Given the description of an element on the screen output the (x, y) to click on. 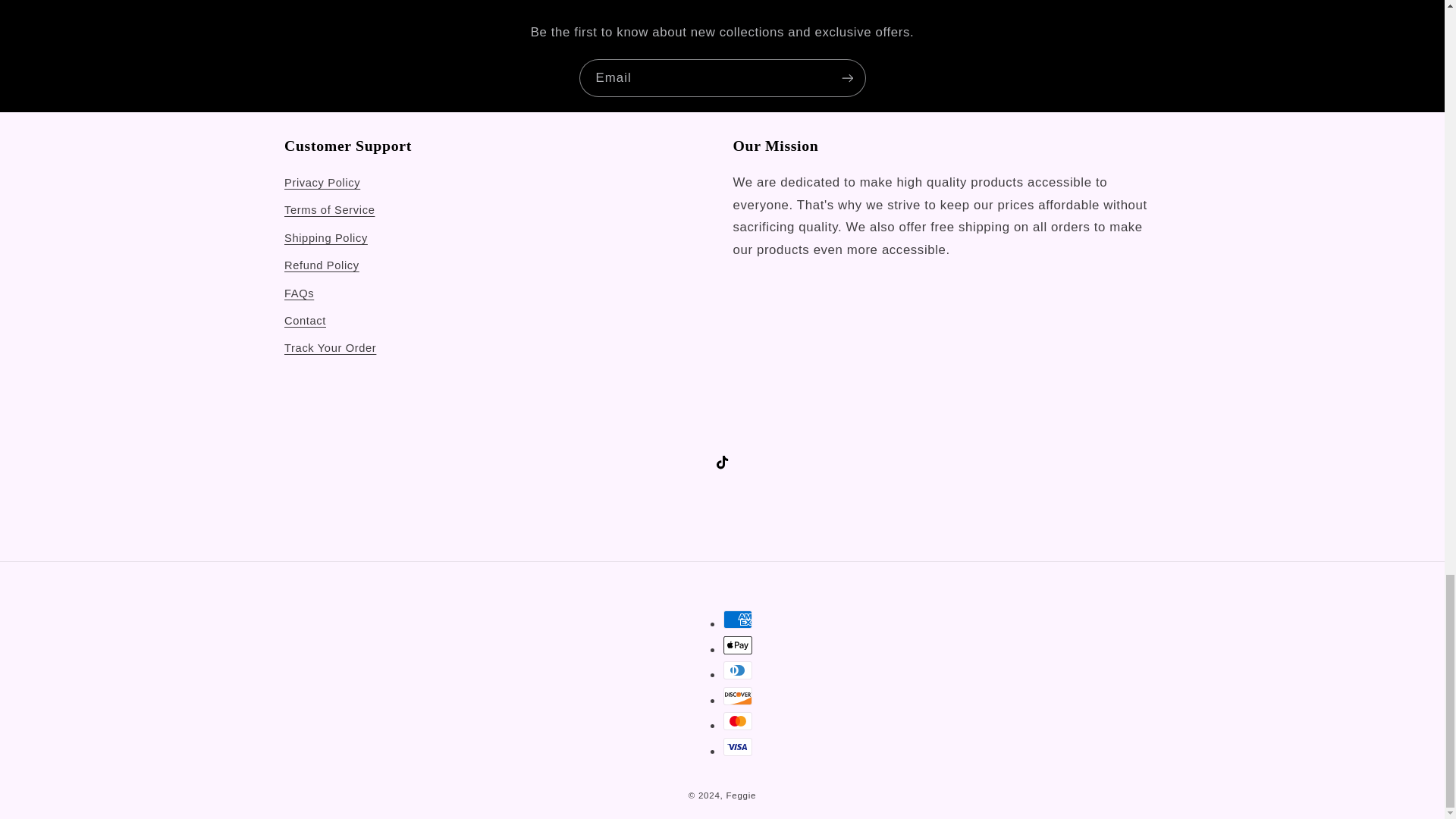
Diners Club (737, 669)
American Express (737, 619)
Discover (737, 696)
Mastercard (737, 720)
Visa (737, 746)
Apple Pay (737, 645)
